Given the description of an element on the screen output the (x, y) to click on. 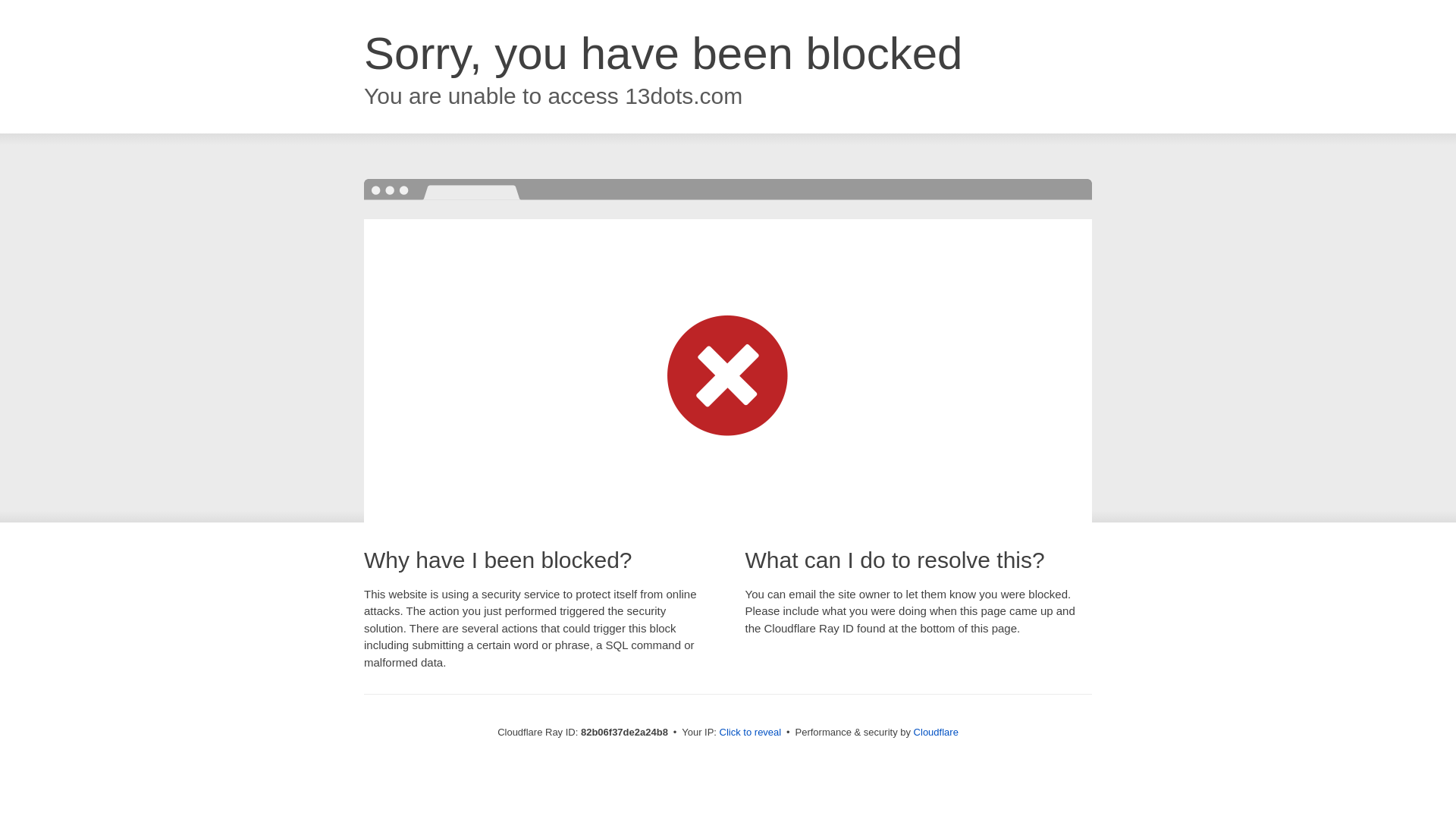
Cloudflare Element type: text (935, 731)
Click to reveal Element type: text (750, 732)
